Given the description of an element on the screen output the (x, y) to click on. 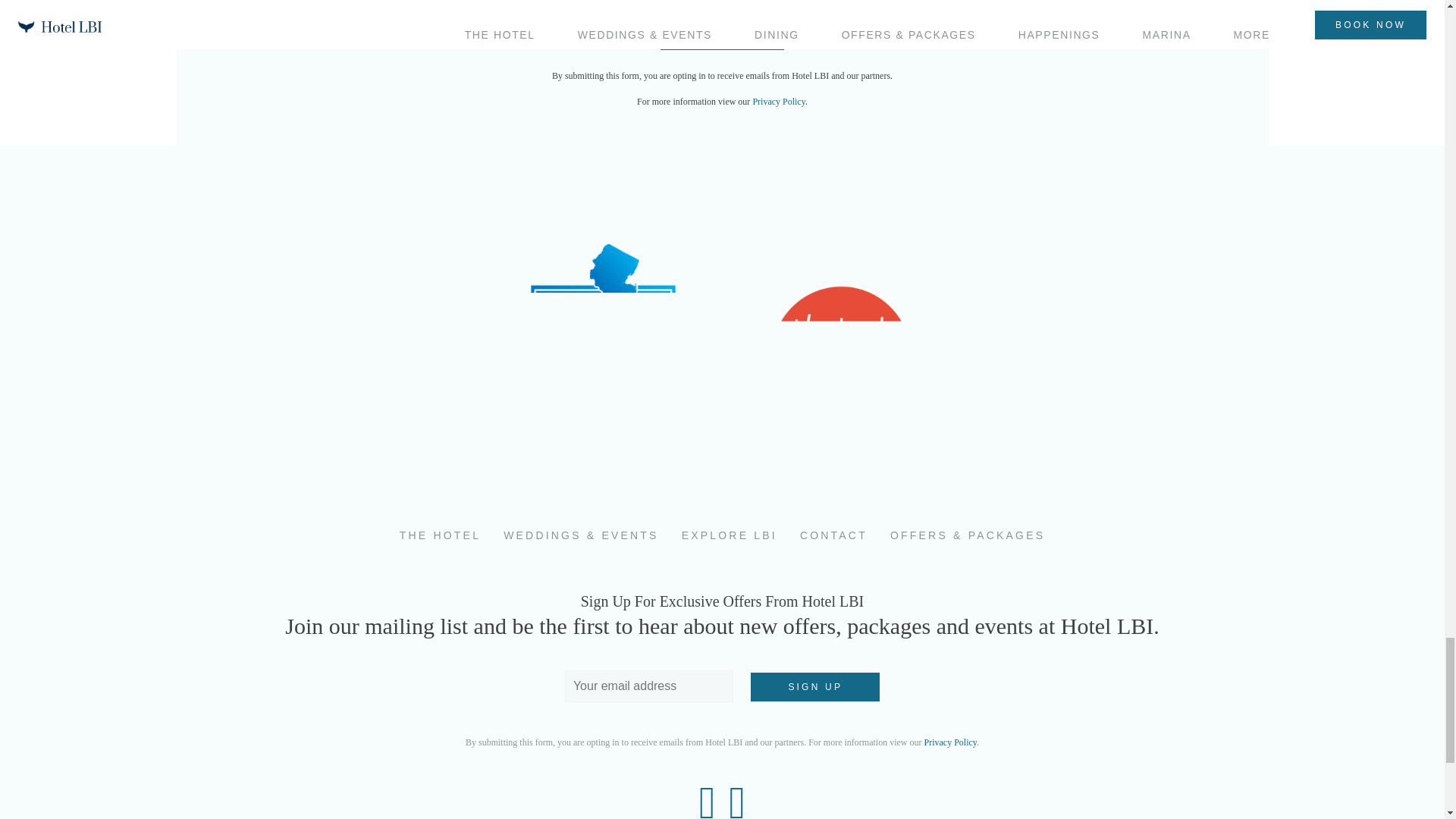
Sign up (815, 686)
